Given the description of an element on the screen output the (x, y) to click on. 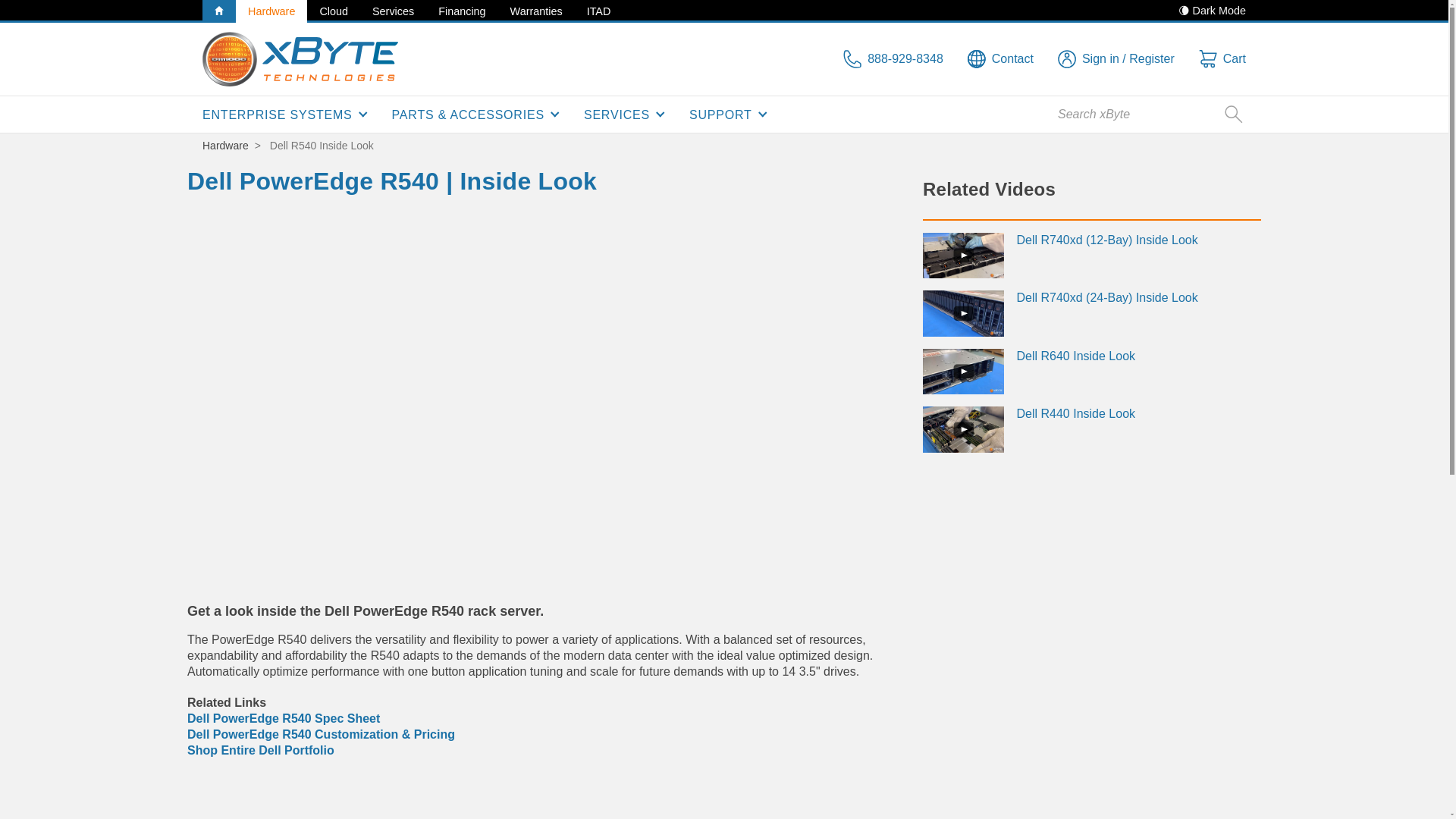
Financing (461, 11)
Cart (1221, 58)
888-929-8348 (893, 58)
Contact (1000, 58)
Services (392, 11)
Hardware (271, 11)
Warranties (536, 11)
ENTERPRISE SYSTEMS (285, 114)
Cloud (333, 11)
XByte Technologies (299, 58)
ITAD (599, 11)
